Given the description of an element on the screen output the (x, y) to click on. 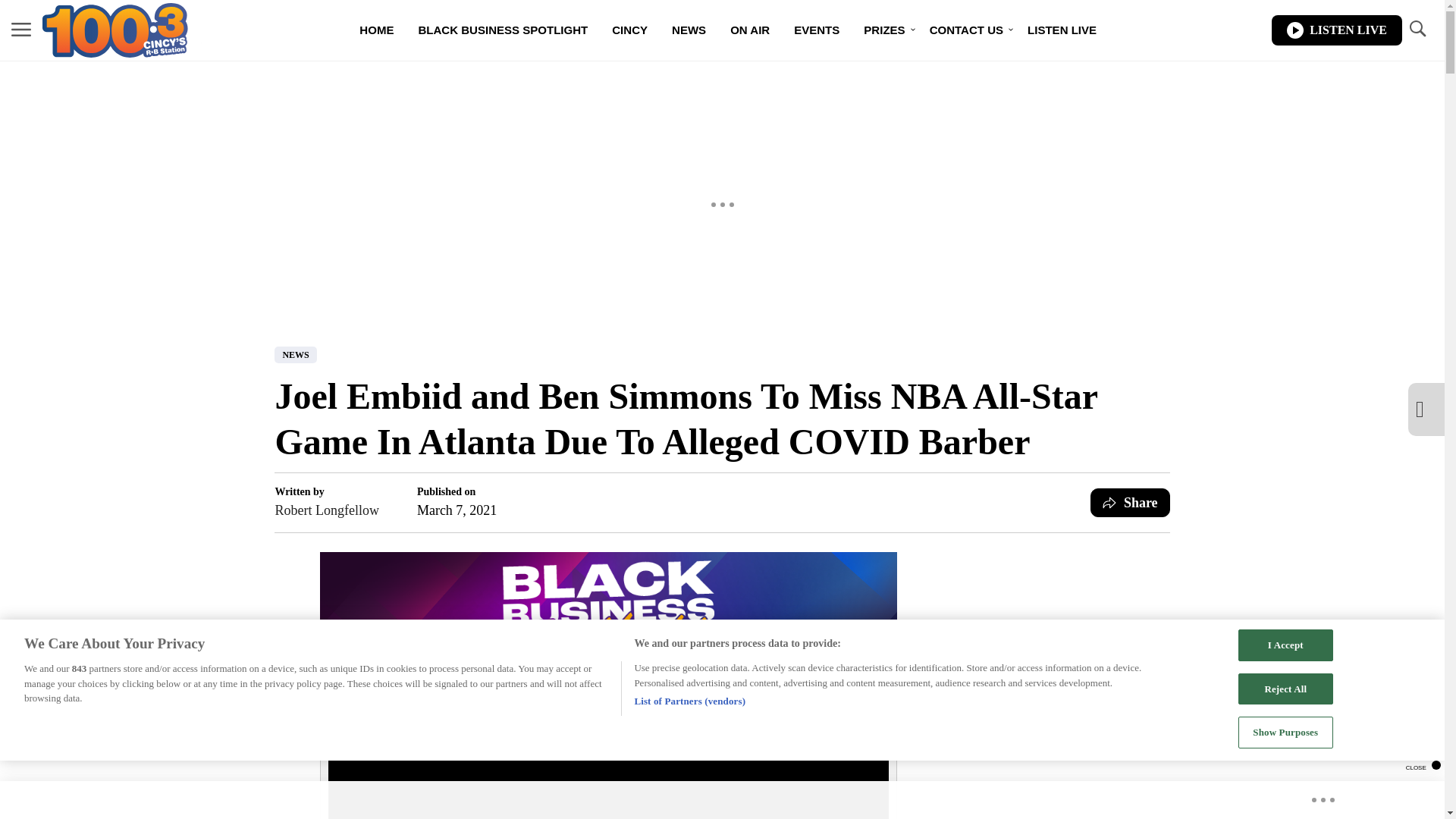
Share (1130, 502)
ON AIR (749, 30)
CONTACT US (965, 30)
EVENTS (816, 30)
TOGGLE SEARCH (1417, 30)
PRIZES (884, 30)
HOME (376, 30)
TOGGLE SEARCH (1417, 28)
LISTEN LIVE (1336, 30)
CINCY (629, 30)
NEWS (688, 30)
LISTEN LIVE (1061, 30)
BLACK BUSINESS SPOTLIGHT (502, 30)
MENU (20, 29)
MENU (20, 30)
